Given the description of an element on the screen output the (x, y) to click on. 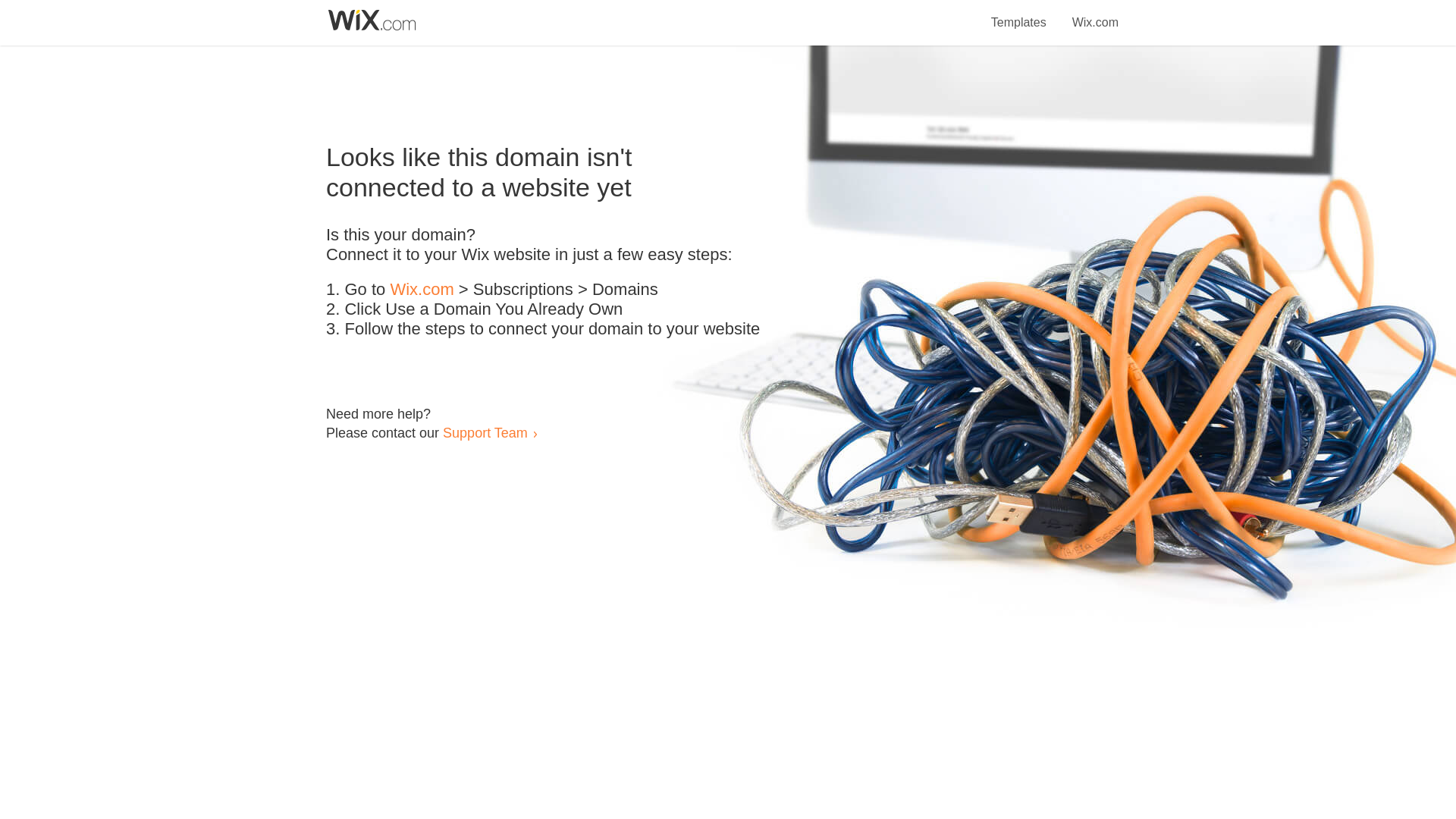
Wix.com (1095, 14)
Support Team (484, 432)
Templates (1018, 14)
Wix.com (421, 289)
